Given the description of an element on the screen output the (x, y) to click on. 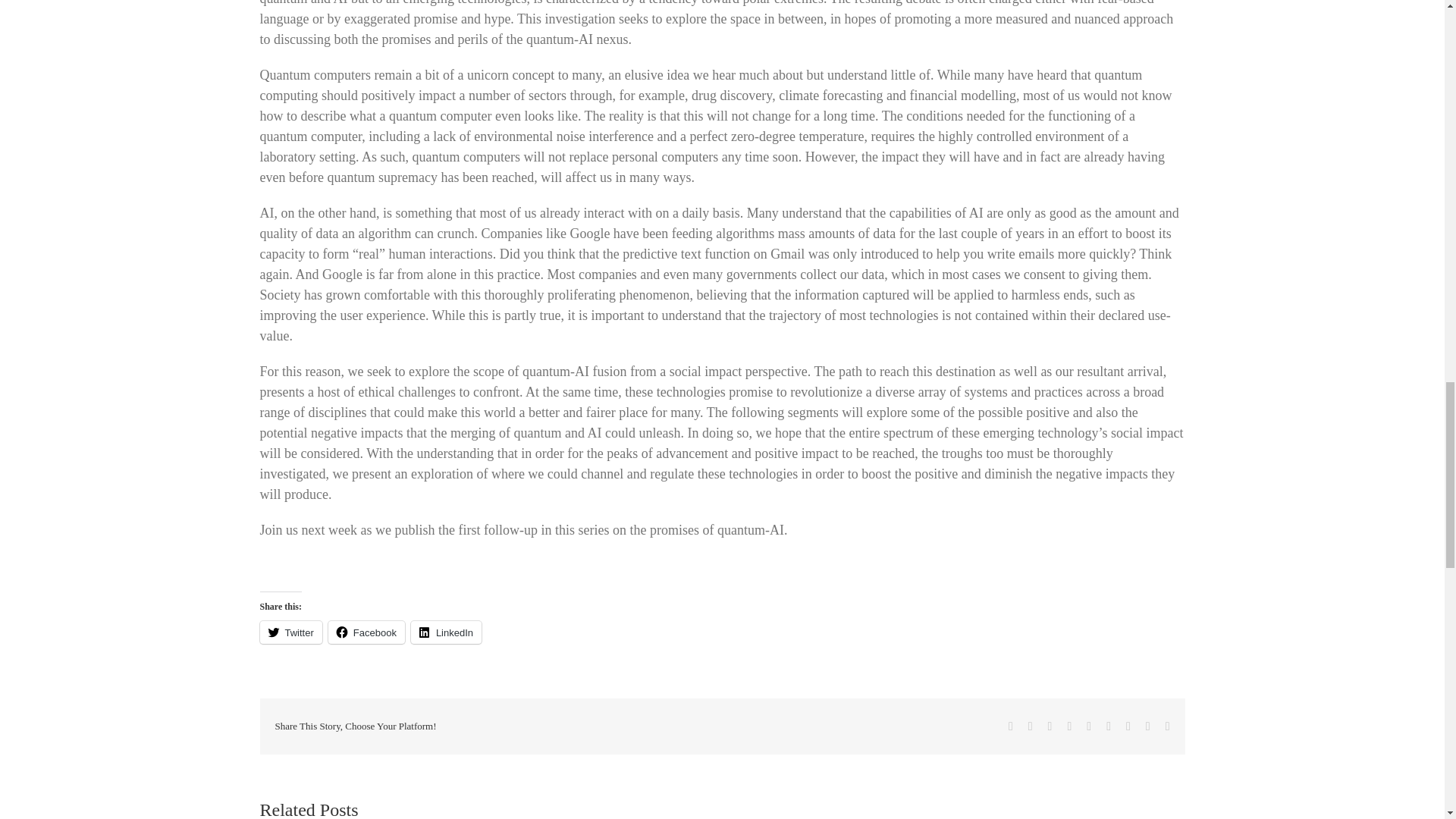
Click to share on Facebook (366, 631)
Click to share on Twitter (290, 631)
Click to share on LinkedIn (445, 631)
